Given the description of an element on the screen output the (x, y) to click on. 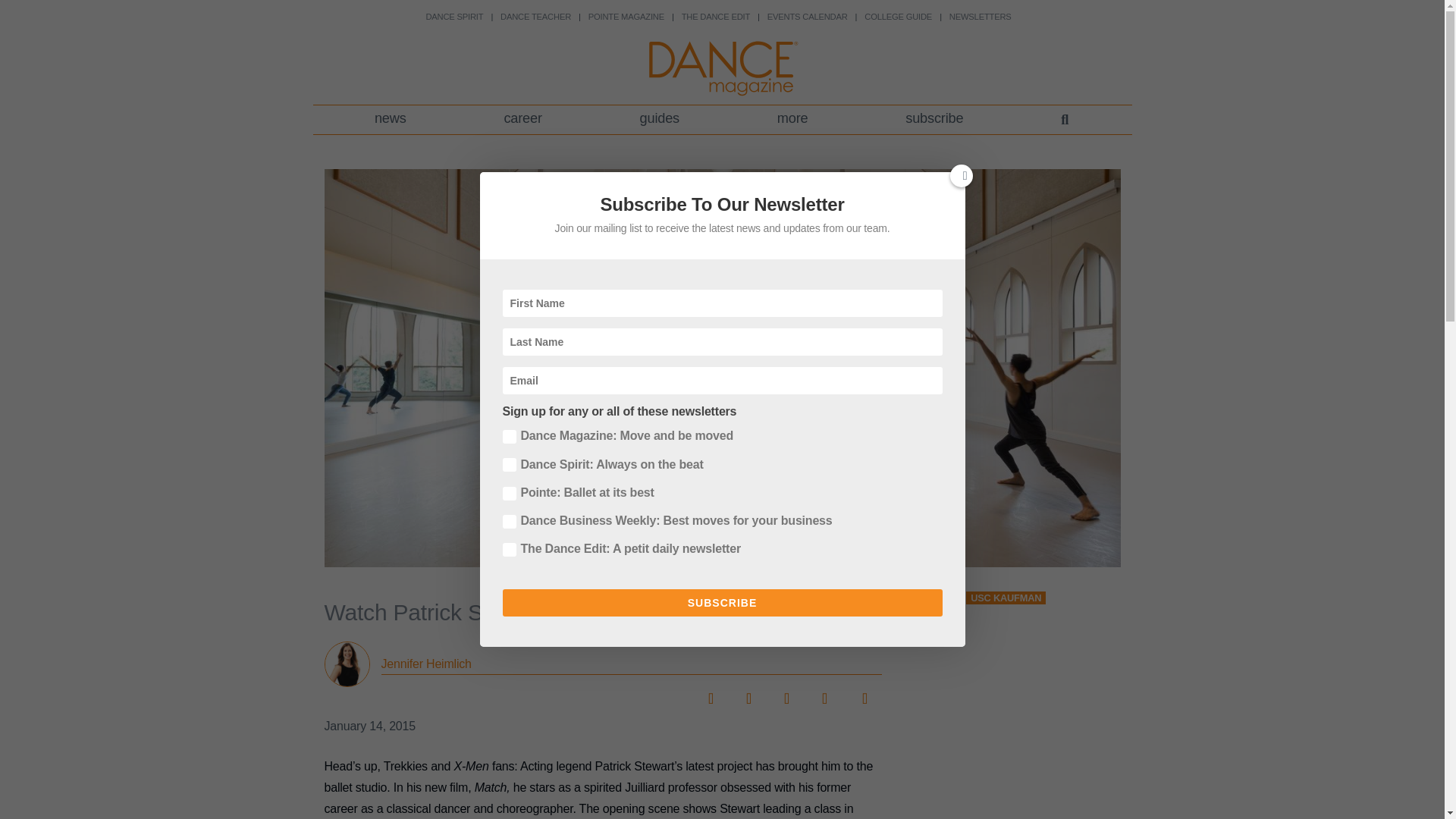
more (791, 119)
Share on Twitter (748, 693)
DANCE TEACHER (535, 16)
THE DANCE EDIT (715, 16)
news (390, 119)
NEWSLETTERS (980, 16)
guides (658, 119)
career (522, 119)
Share on Facebook (710, 693)
POINTE MAGAZINE (625, 16)
